Given the description of an element on the screen output the (x, y) to click on. 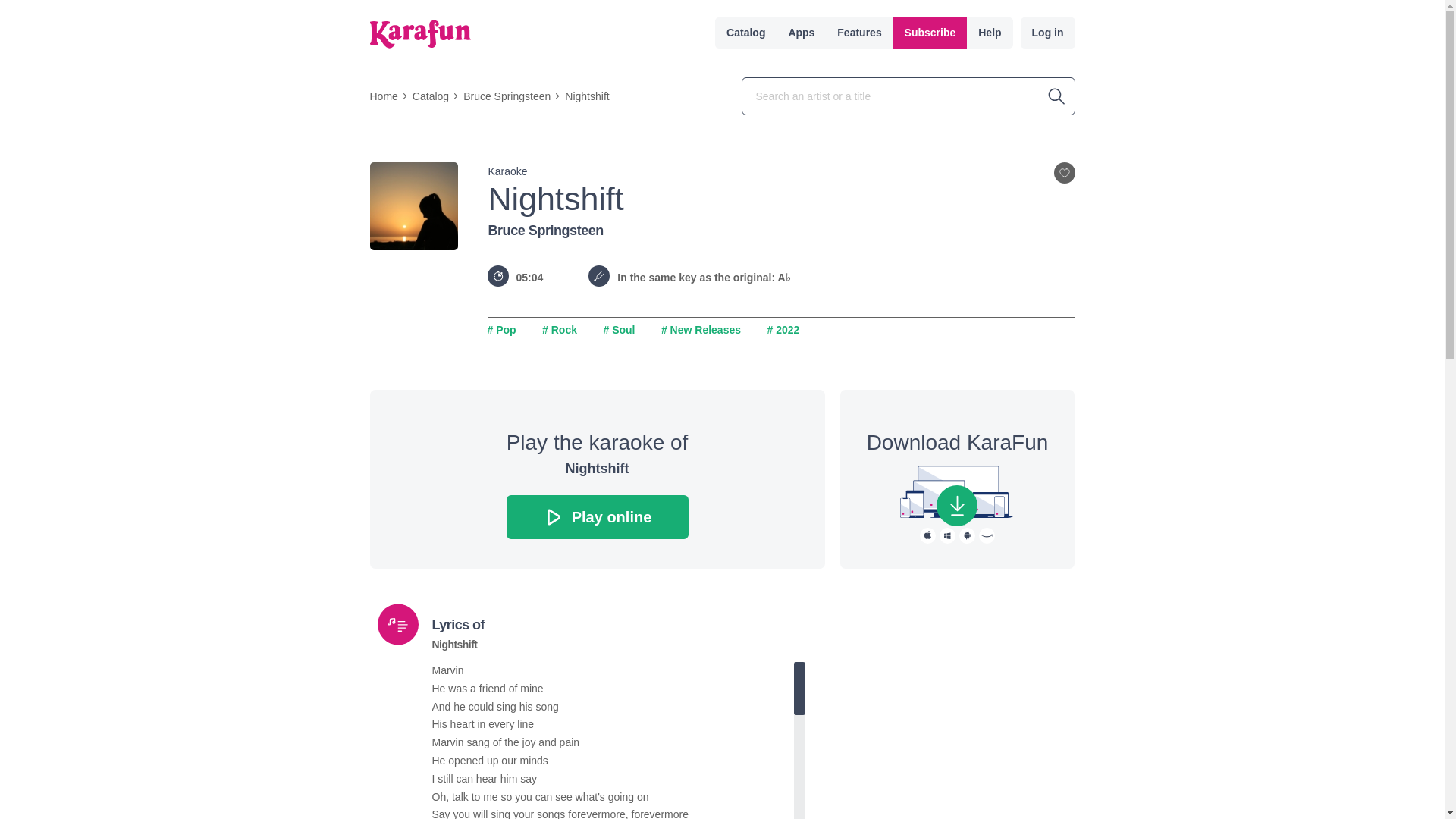
Back to home page (419, 33)
And he could sing his song  (613, 707)
Catalog (430, 95)
Bruce Springsteen (545, 230)
Marvin sang of the joy and pain  (613, 742)
His heart in every line  (613, 724)
Subscribe (930, 32)
He was a friend of mine  (613, 689)
I still can hear him say  (613, 779)
Help (988, 32)
